Given the description of an element on the screen output the (x, y) to click on. 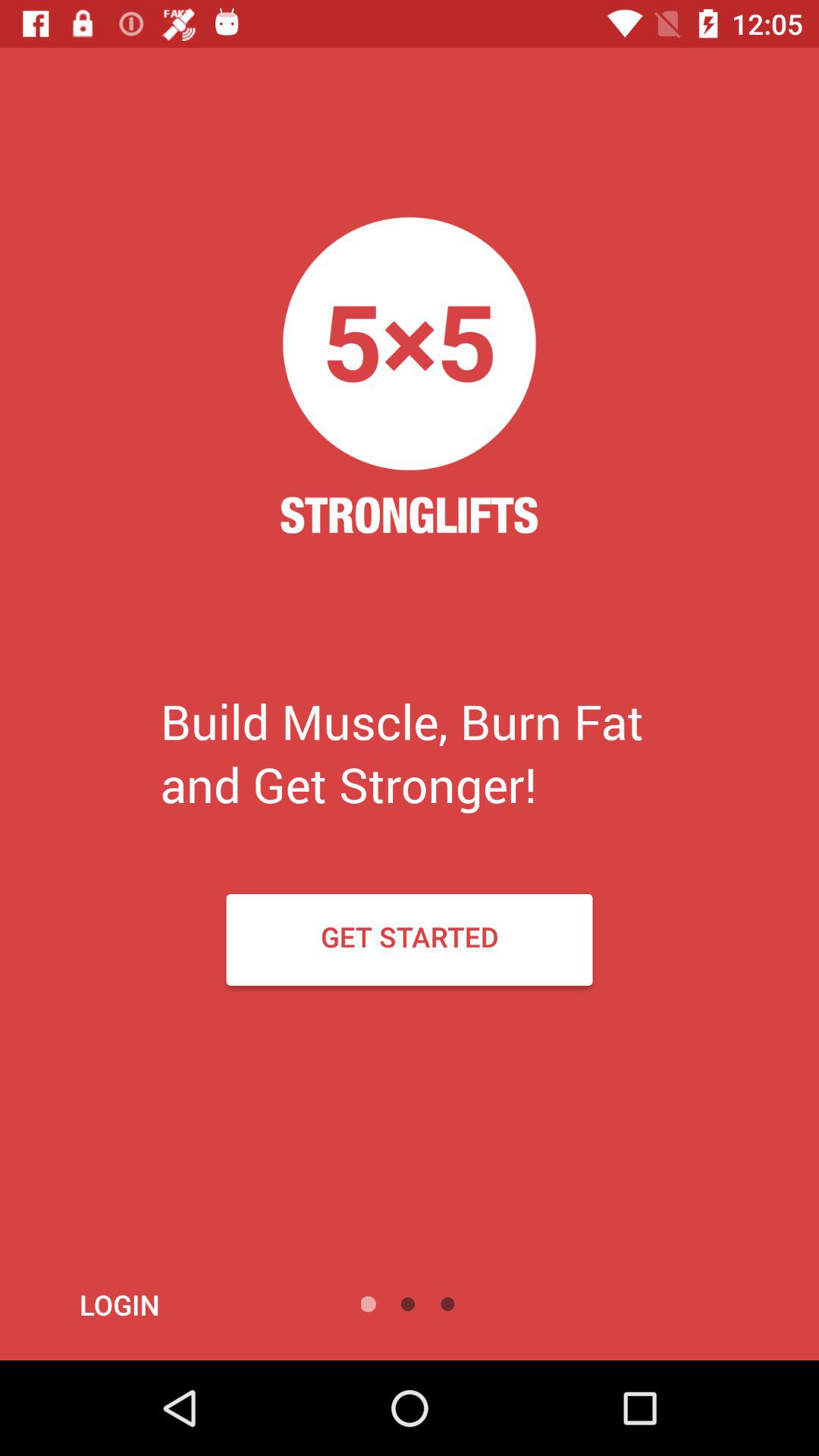
scroll until login item (160, 1304)
